Given the description of an element on the screen output the (x, y) to click on. 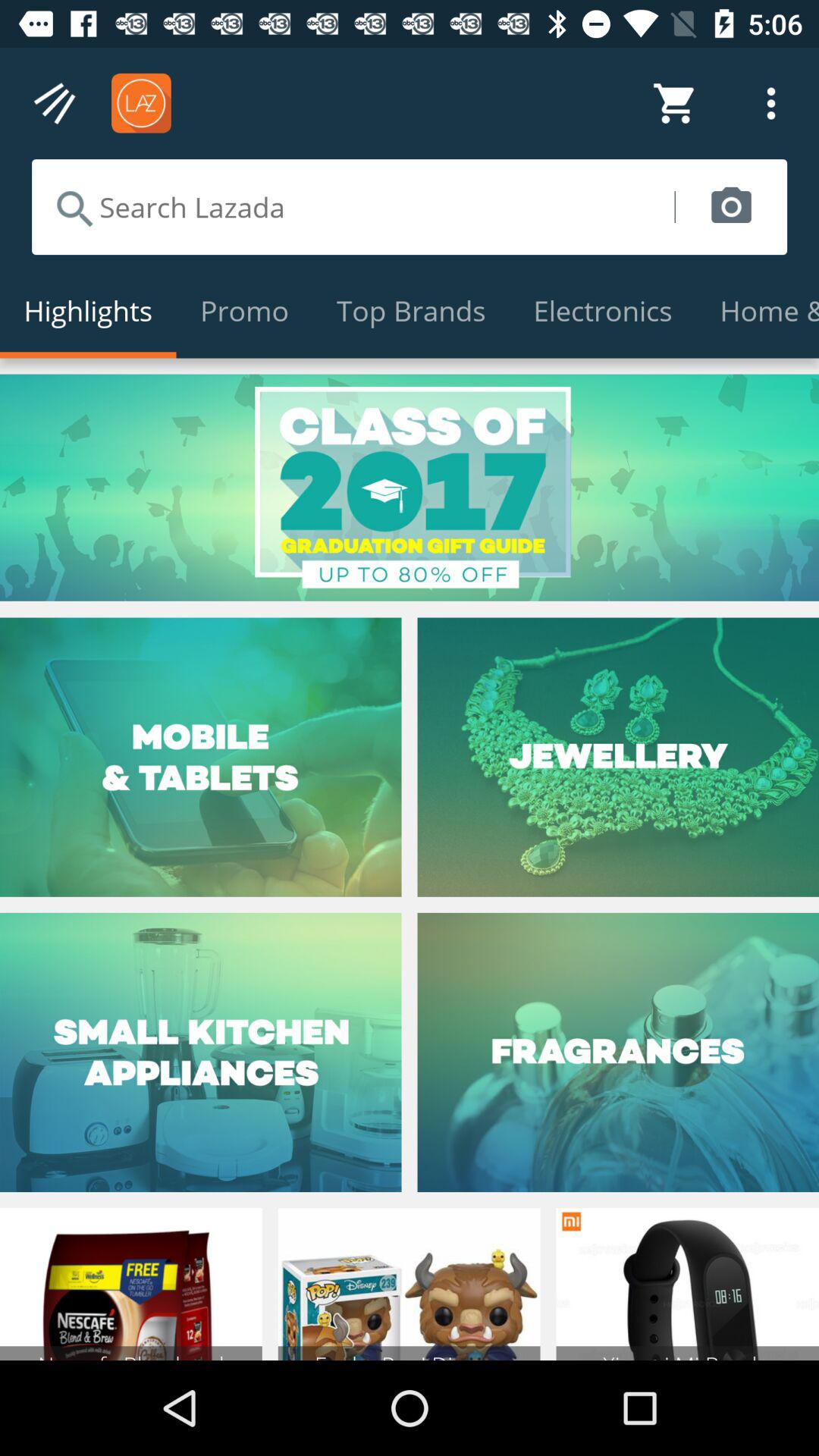
tap item above electronics icon (731, 206)
